Given the description of an element on the screen output the (x, y) to click on. 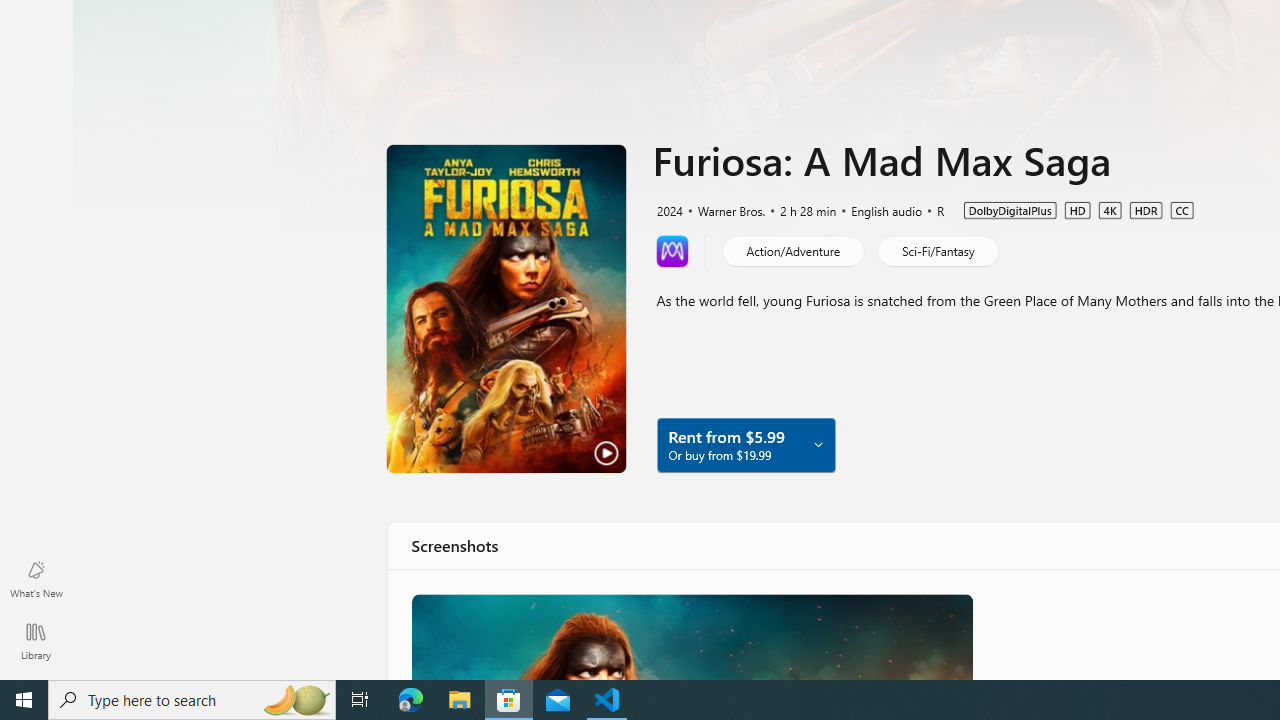
Action/Adventure (792, 250)
English audio (877, 209)
Class: ListViewItem (690, 636)
R (932, 209)
Warner Bros. (723, 209)
2 h 28 min (799, 209)
Sci-Fi/Fantasy (937, 250)
Learn more about Movies Anywhere (671, 250)
Rent from $5.99 Or buy from $19.99 (745, 444)
Play Trailer (505, 308)
2024 (667, 209)
